Given the description of an element on the screen output the (x, y) to click on. 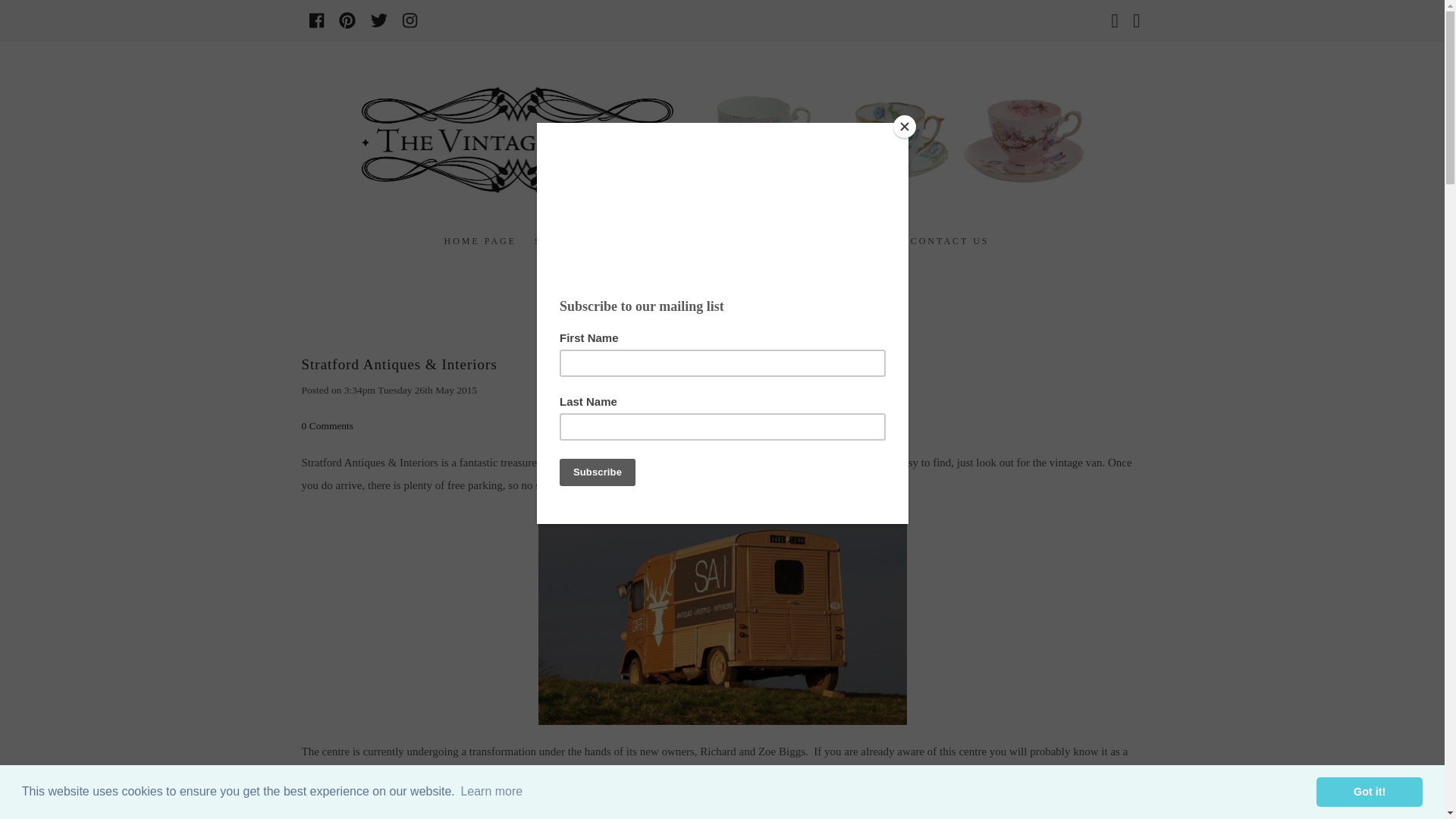
Got it! (1369, 791)
USEFUL INFORMATION (816, 241)
HOME PAGE (479, 241)
CONTACT US (949, 241)
twitter (379, 20)
pinterest (347, 20)
0 Comments (327, 425)
Learn more (491, 791)
SHOP (555, 241)
BLOG (705, 241)
GUESTBOOK (633, 241)
twitter (379, 20)
pinterest (347, 20)
